Given the description of an element on the screen output the (x, y) to click on. 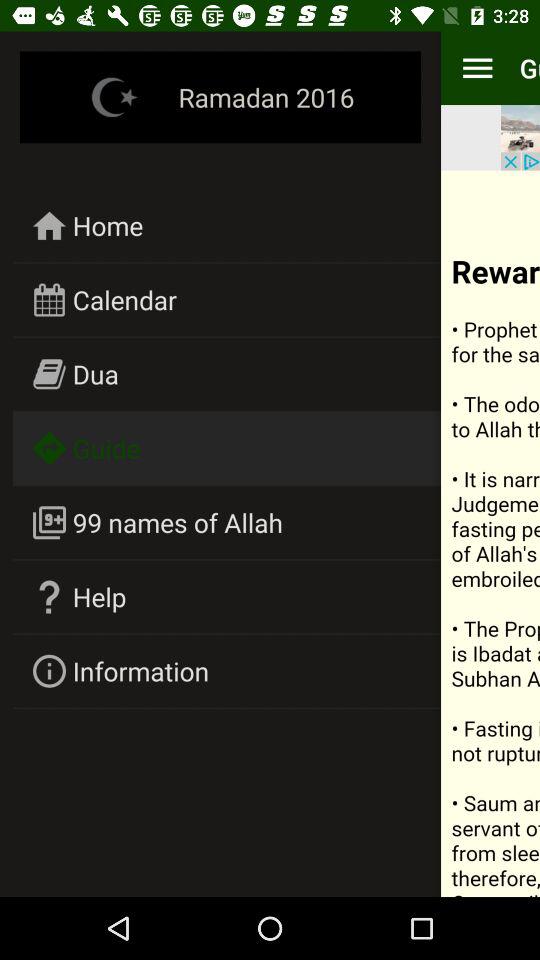
choose the item next to ramadan 2016 (477, 68)
